Given the description of an element on the screen output the (x, y) to click on. 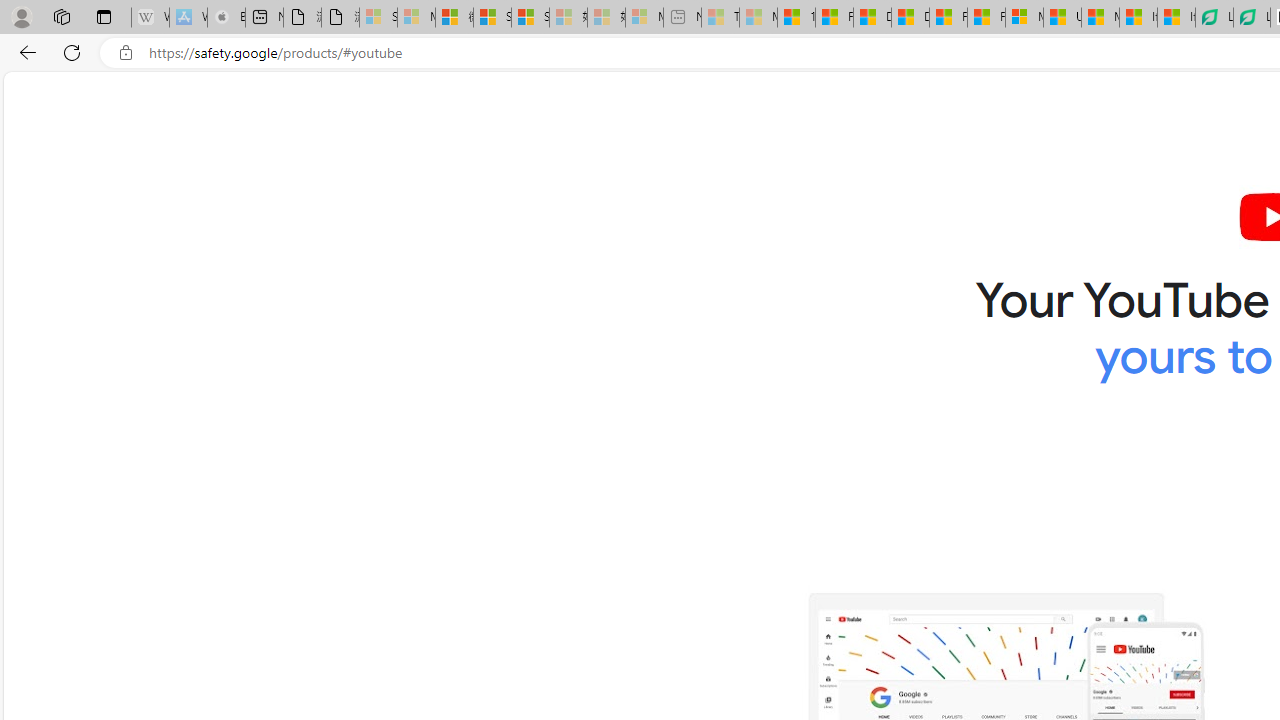
Buy iPad - Apple - Sleeping (225, 17)
Marine life - MSN - Sleeping (757, 17)
US Heat Deaths Soared To Record High Last Year (1062, 17)
LendingTree - Compare Lenders (1251, 17)
